Given the description of an element on the screen output the (x, y) to click on. 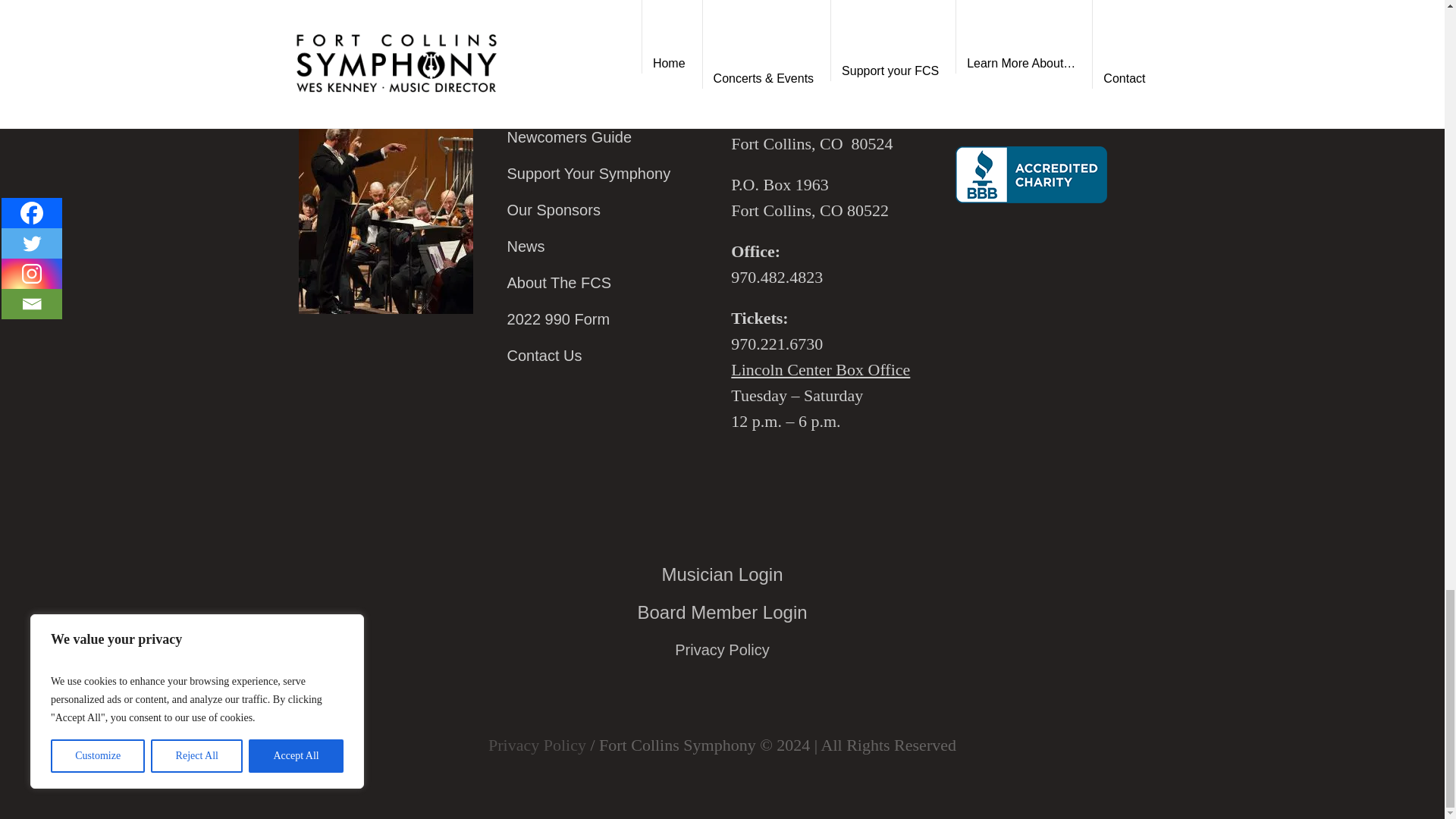
Fort Collins Symphony on Youtube (410, 38)
Fort Collins Symphony on Instagram (359, 38)
Fort Collins Symphony on Tiktok (461, 38)
Fort Collins Symphony on Facebook (308, 38)
